Given the description of an element on the screen output the (x, y) to click on. 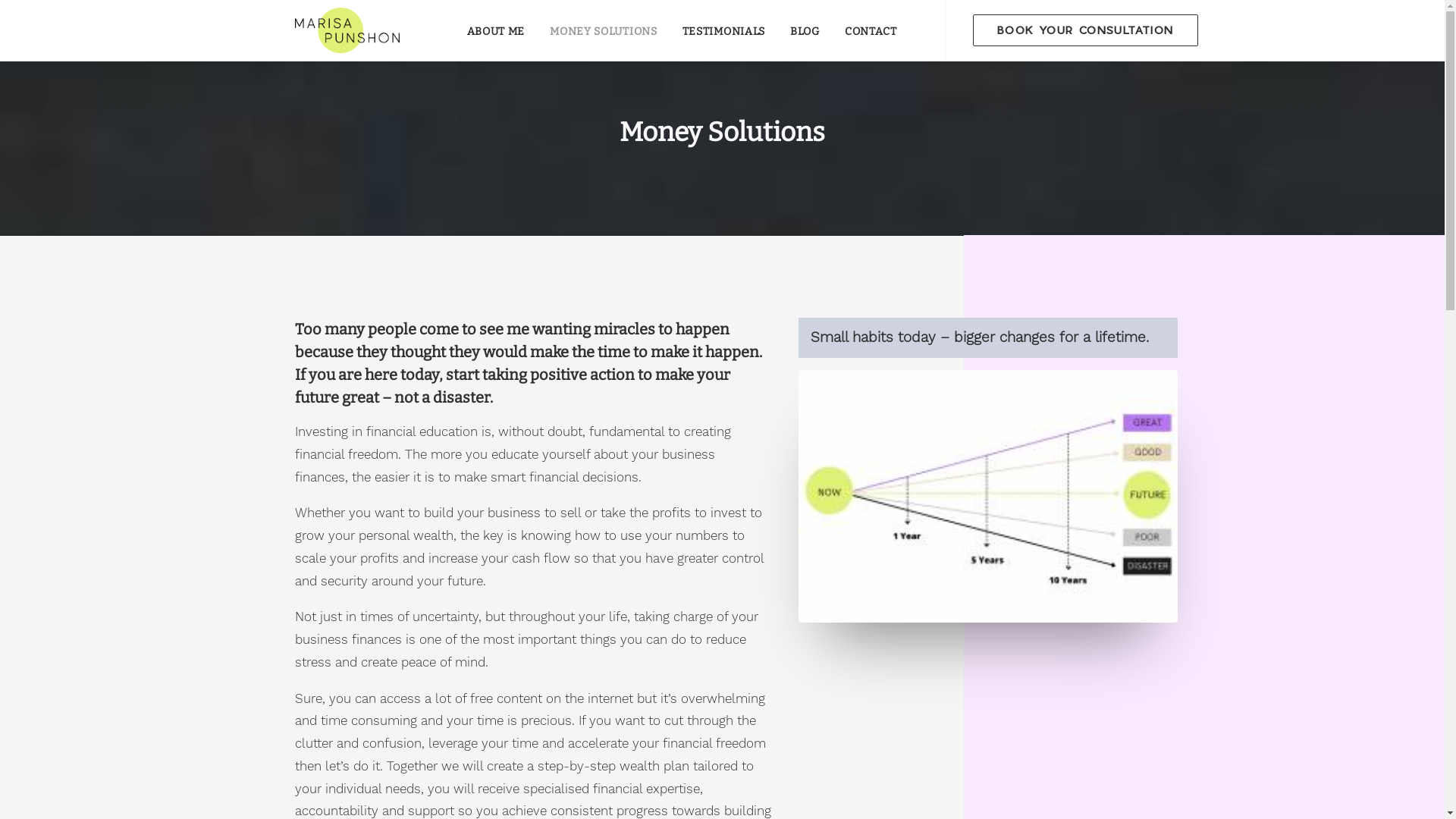
CONTACT Element type: text (870, 30)
BLOG Element type: text (804, 30)
BOOK YOUR CONSULTATION Element type: text (1085, 29)
ABOUT ME Element type: text (496, 30)
TESTIMONIALS Element type: text (723, 30)
MONEY SOLUTIONS Element type: text (603, 30)
